Given the description of an element on the screen output the (x, y) to click on. 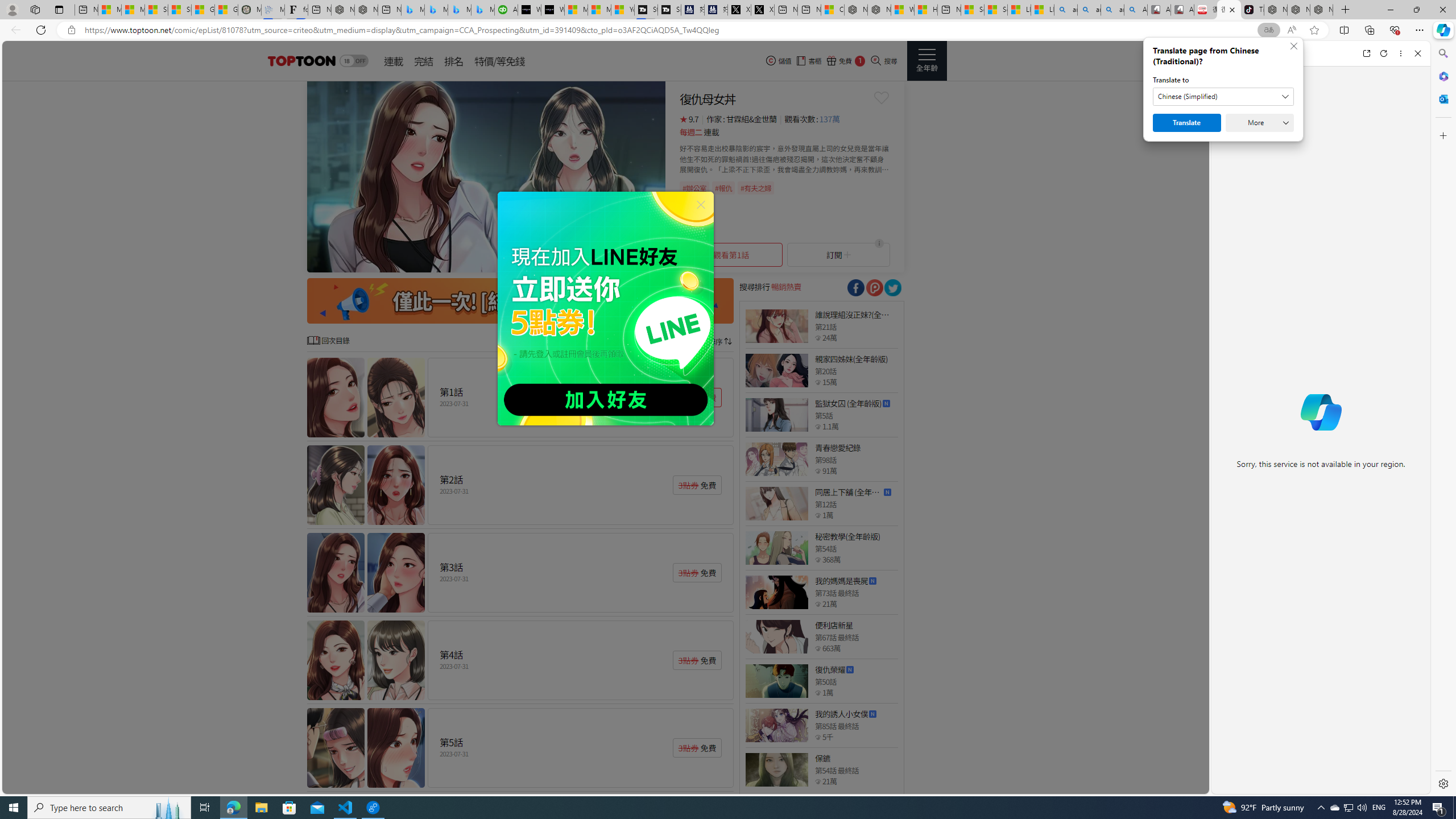
amazon - Search Images (1112, 9)
More (1259, 122)
